Given the description of an element on the screen output the (x, y) to click on. 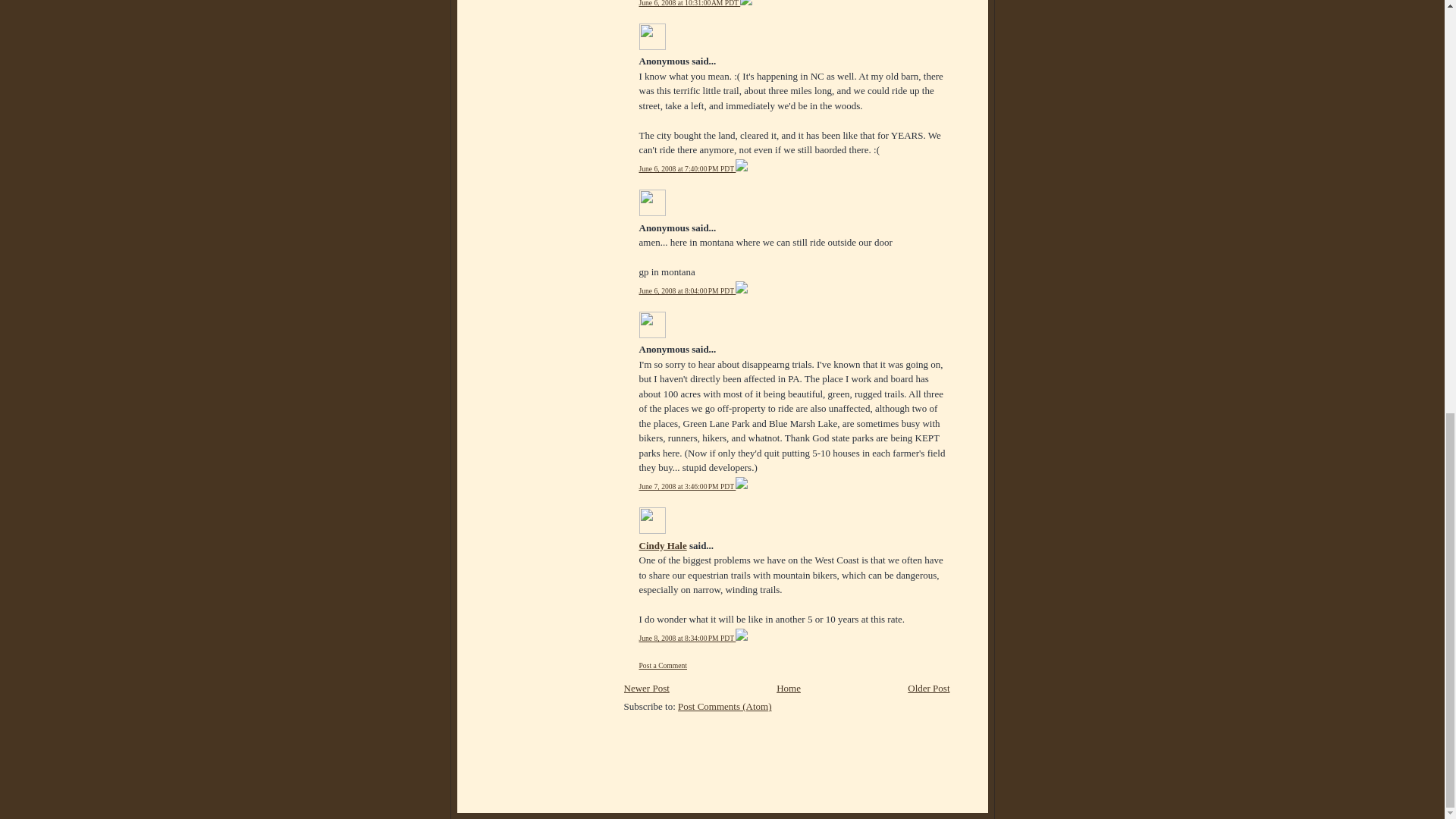
Anonymous (652, 202)
comment permalink (687, 290)
Delete Comment (741, 168)
comment permalink (689, 3)
comment permalink (687, 168)
Anonymous (652, 325)
Delete Comment (741, 290)
Anonymous (652, 36)
Delete Comment (745, 3)
comment permalink (687, 486)
